Given the description of an element on the screen output the (x, y) to click on. 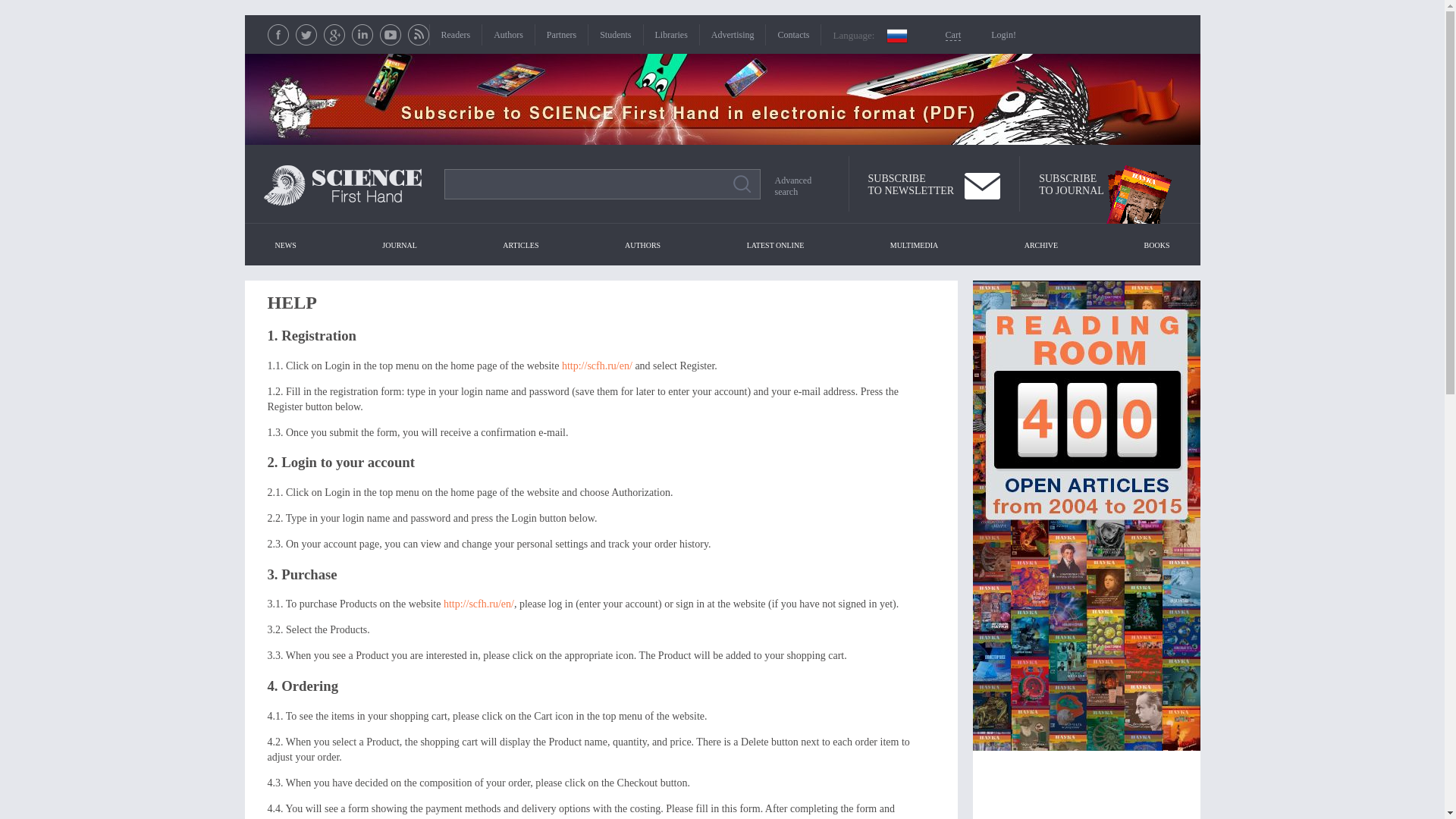
Students (614, 34)
Advanced search (796, 186)
Libraries (671, 34)
BOOKS (1157, 244)
Advertising (732, 34)
NEWS (284, 244)
Contacts (793, 34)
AUTHORS (642, 244)
ARCHIVE (1040, 244)
Partners (561, 34)
MULTIMEDIA (1071, 184)
Authors (914, 244)
ARTICLES (507, 34)
Readers (520, 244)
